Given the description of an element on the screen output the (x, y) to click on. 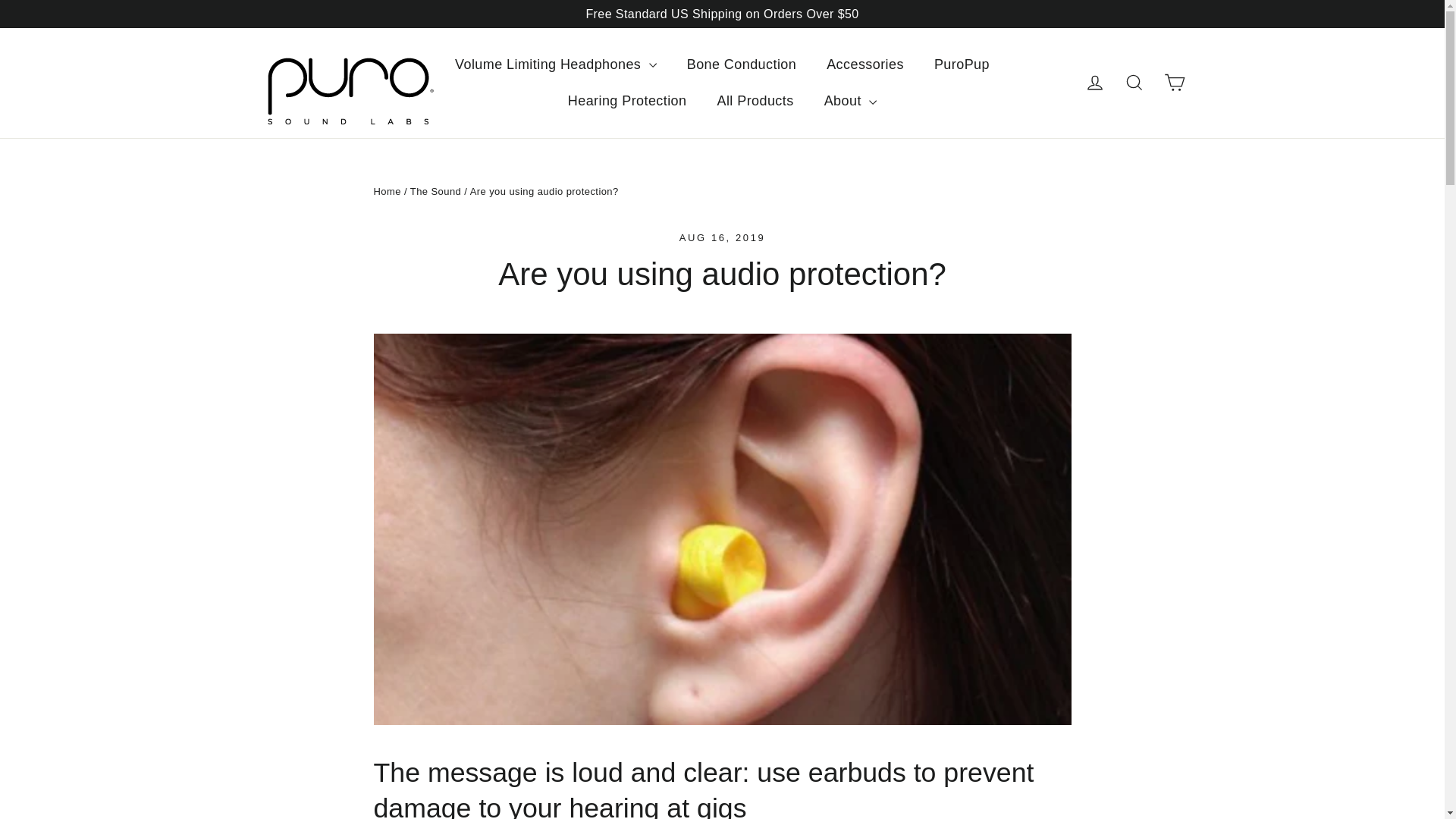
PuroPup (961, 64)
Accessories (864, 64)
Bone Conduction (740, 64)
About (850, 100)
All Products (755, 100)
Volume Limiting Headphones (555, 64)
Back to the frontpage (386, 191)
Hearing Protection (627, 100)
